Given the description of an element on the screen output the (x, y) to click on. 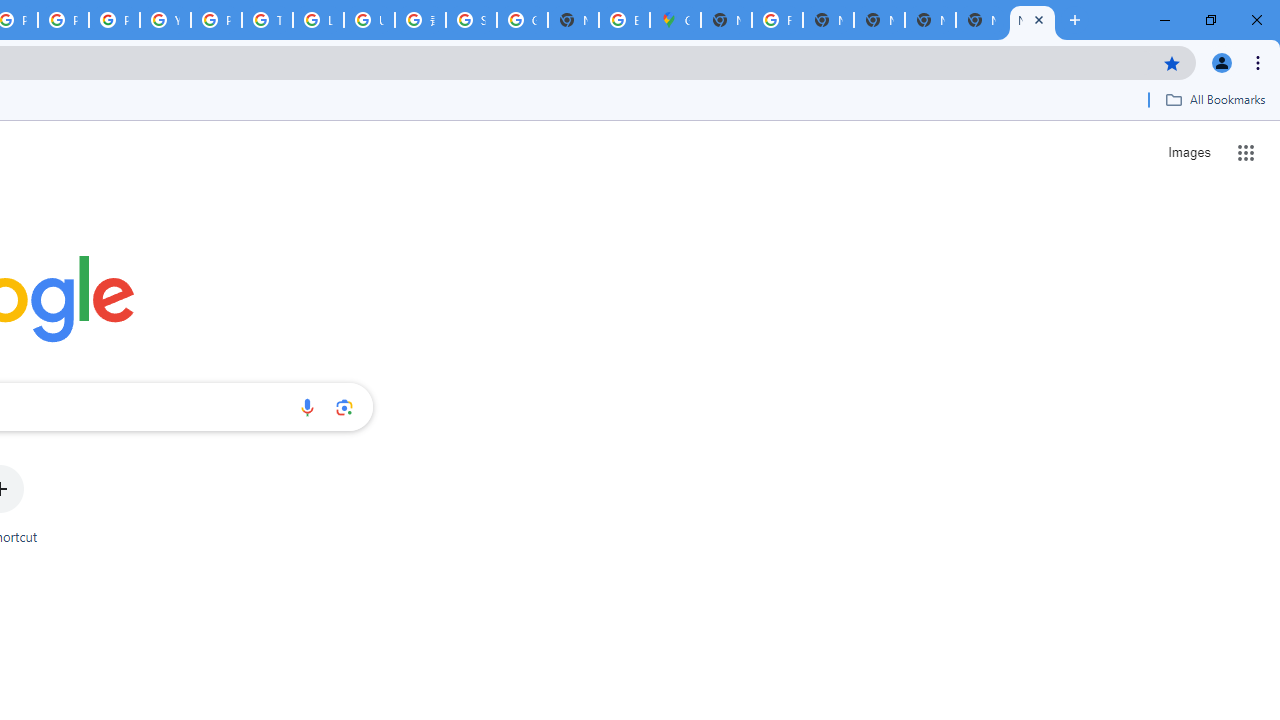
New Tab (981, 20)
Search by voice (307, 407)
Search by image (344, 407)
Google Maps (675, 20)
Tips & tricks for Chrome - Google Chrome Help (267, 20)
Google apps (1245, 152)
Privacy Help Center - Policies Help (63, 20)
New Tab (1032, 20)
